Given the description of an element on the screen output the (x, y) to click on. 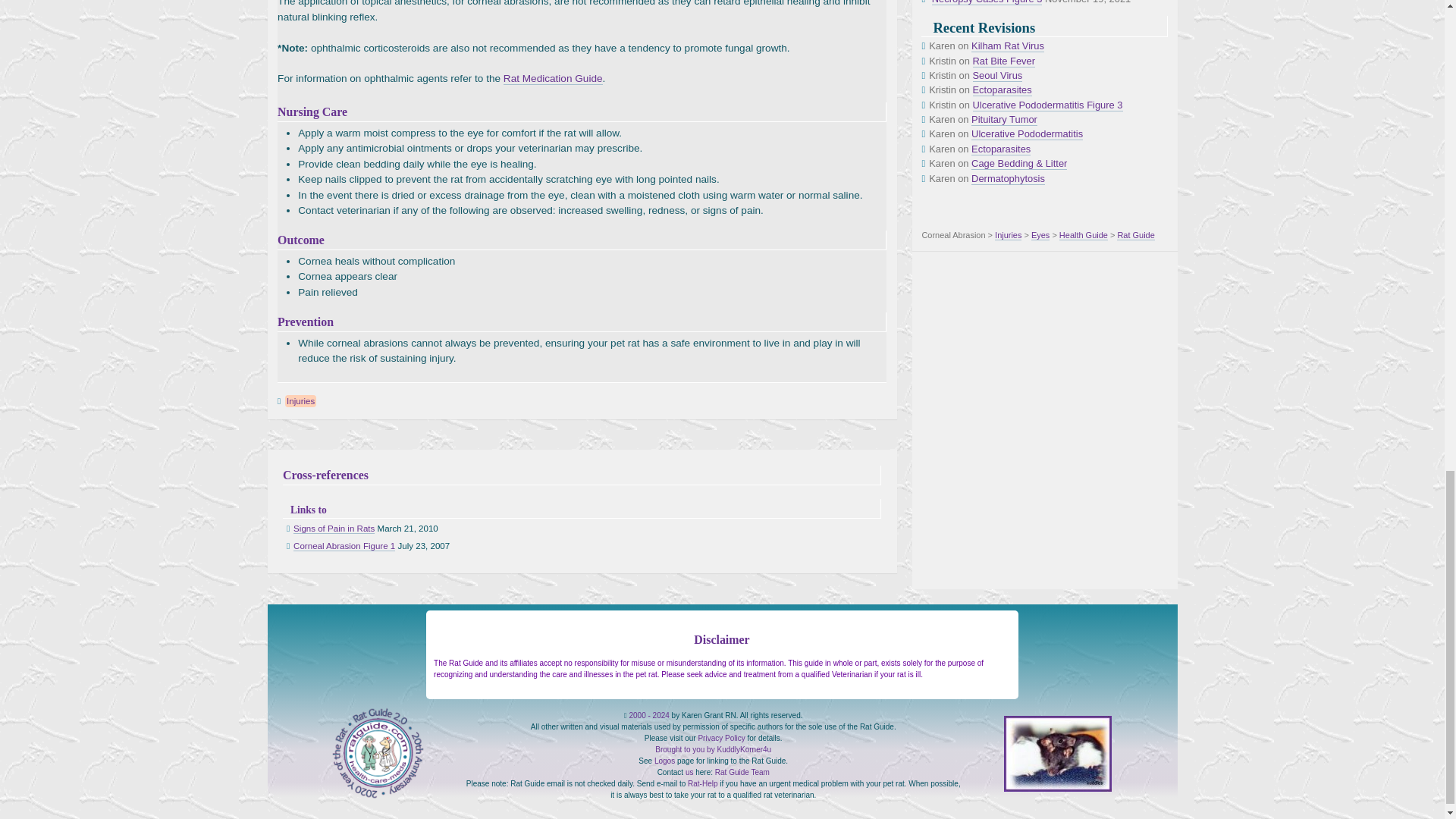
Corneal Abrasion Figure 1 (344, 546)
2 months ago (1002, 90)
2 months ago (1007, 46)
Injuries (300, 400)
3 months ago (1000, 149)
3 months ago (1047, 105)
2 months ago (1003, 61)
Signs of Pain in Rats (334, 528)
3 months ago (1003, 119)
Rat Medication Guide (552, 78)
2 months ago (997, 75)
3 months ago (1027, 133)
3 months ago (1019, 163)
